Given the description of an element on the screen output the (x, y) to click on. 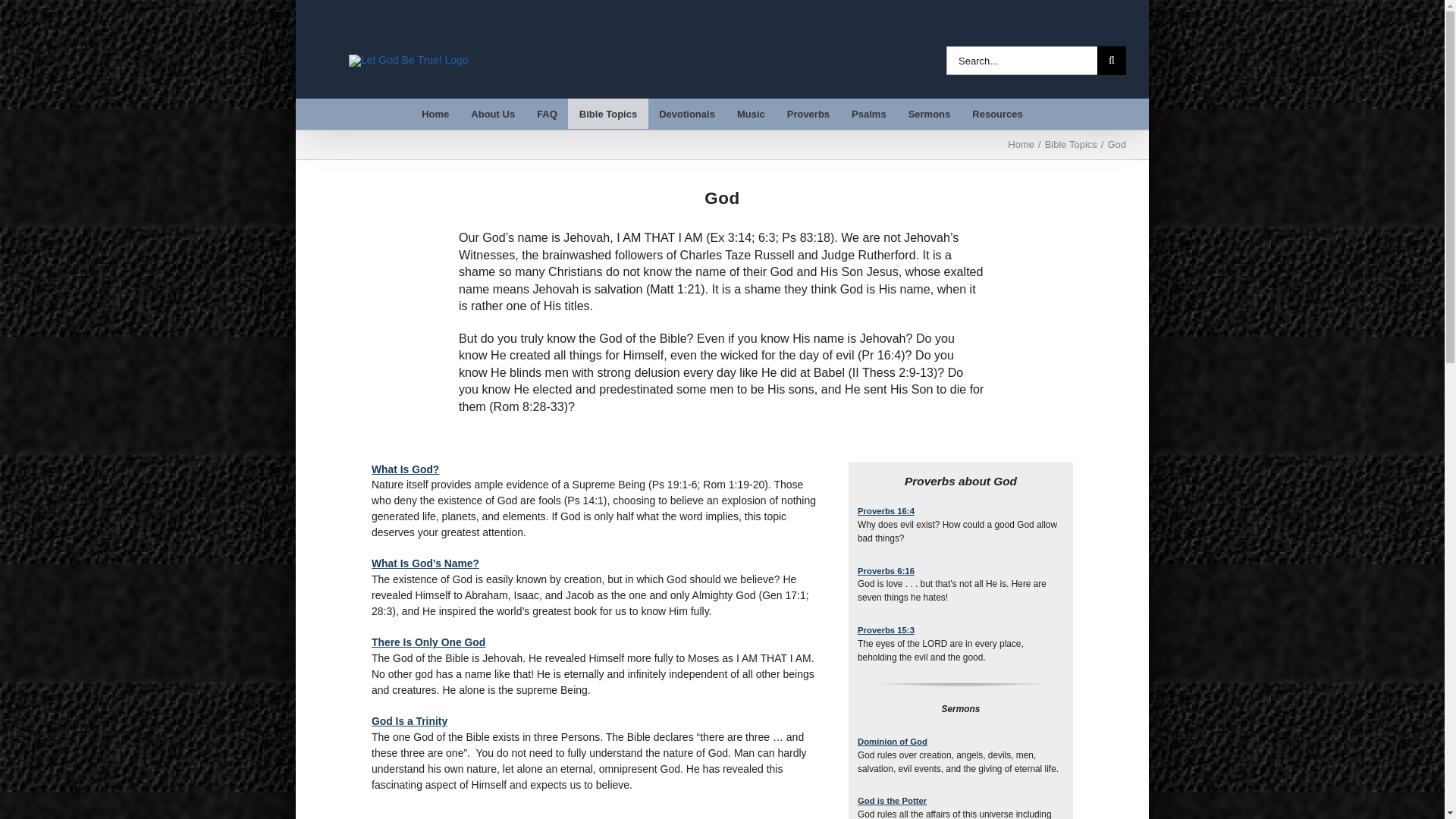
Devotionals (686, 113)
Proverbs (808, 113)
Music (750, 113)
About Us (492, 113)
Home (435, 113)
Bible Topics (607, 113)
FAQ (547, 113)
